Given the description of an element on the screen output the (x, y) to click on. 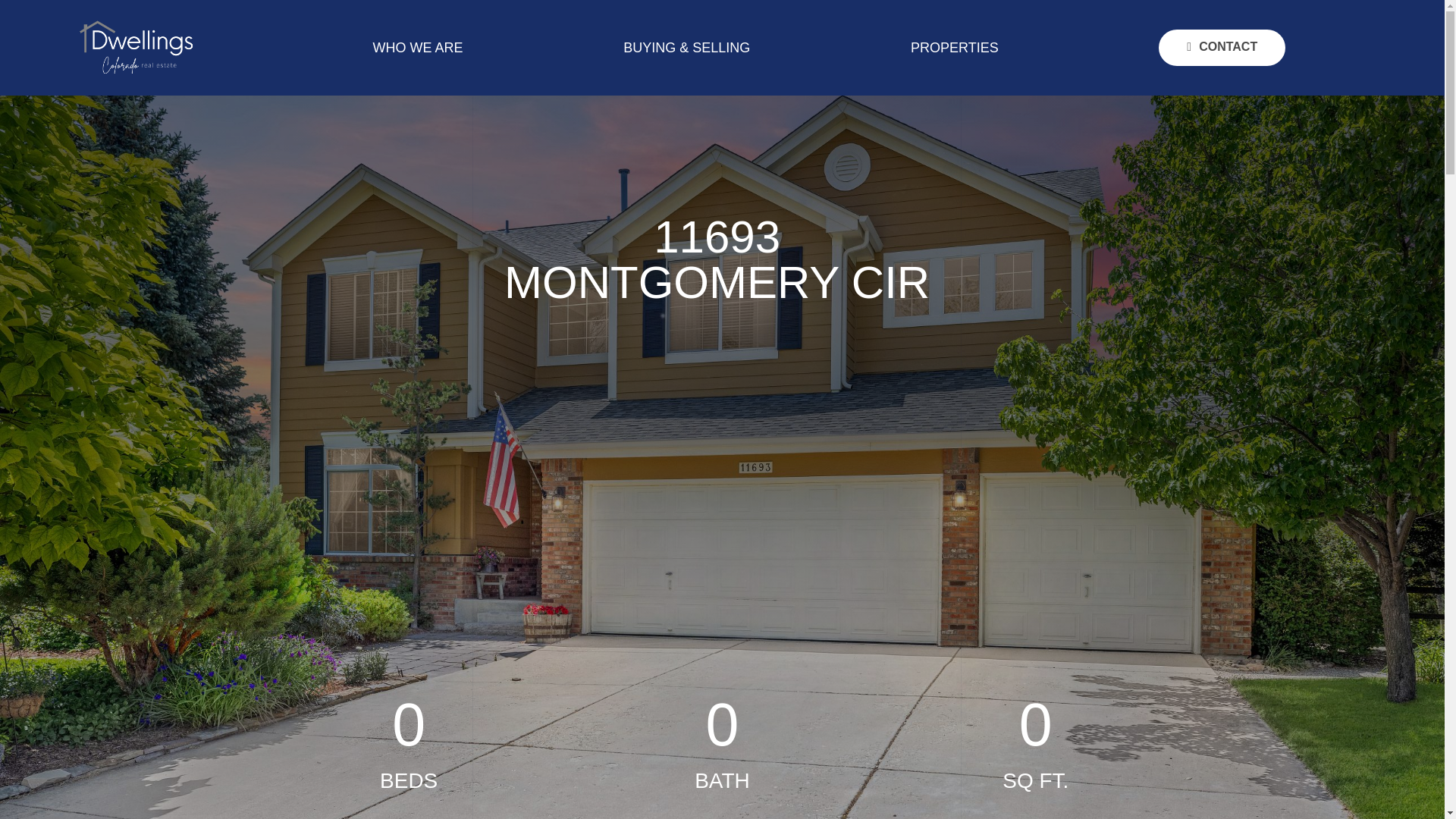
WHO WE ARE (418, 47)
CONTACT (1221, 47)
PROPERTIES (953, 47)
